Given the description of an element on the screen output the (x, y) to click on. 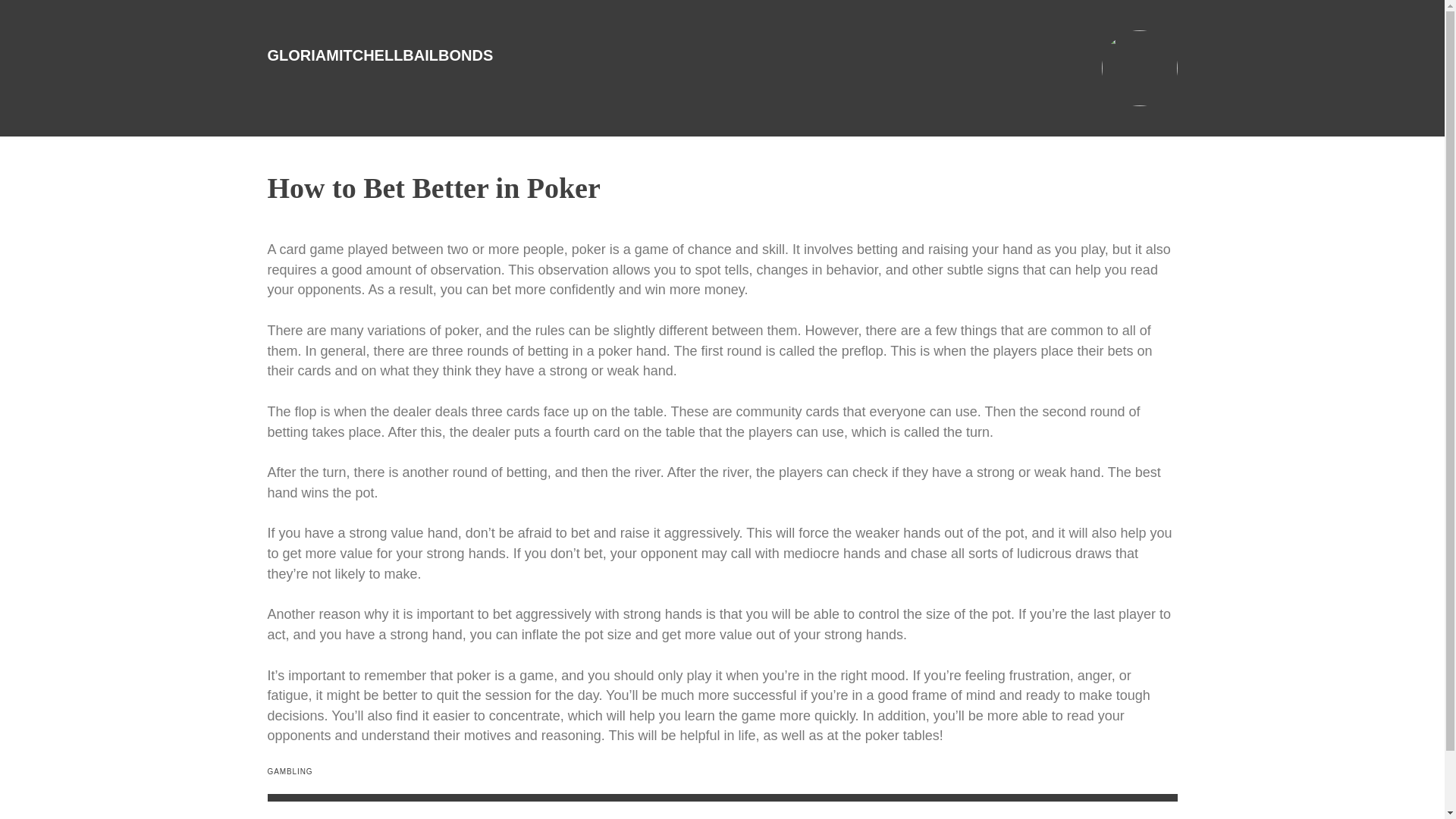
GLORIAMITCHELLBAILBONDS (379, 54)
GAMBLING (289, 771)
gloriamitchellbailbonds (379, 54)
